Given the description of an element on the screen output the (x, y) to click on. 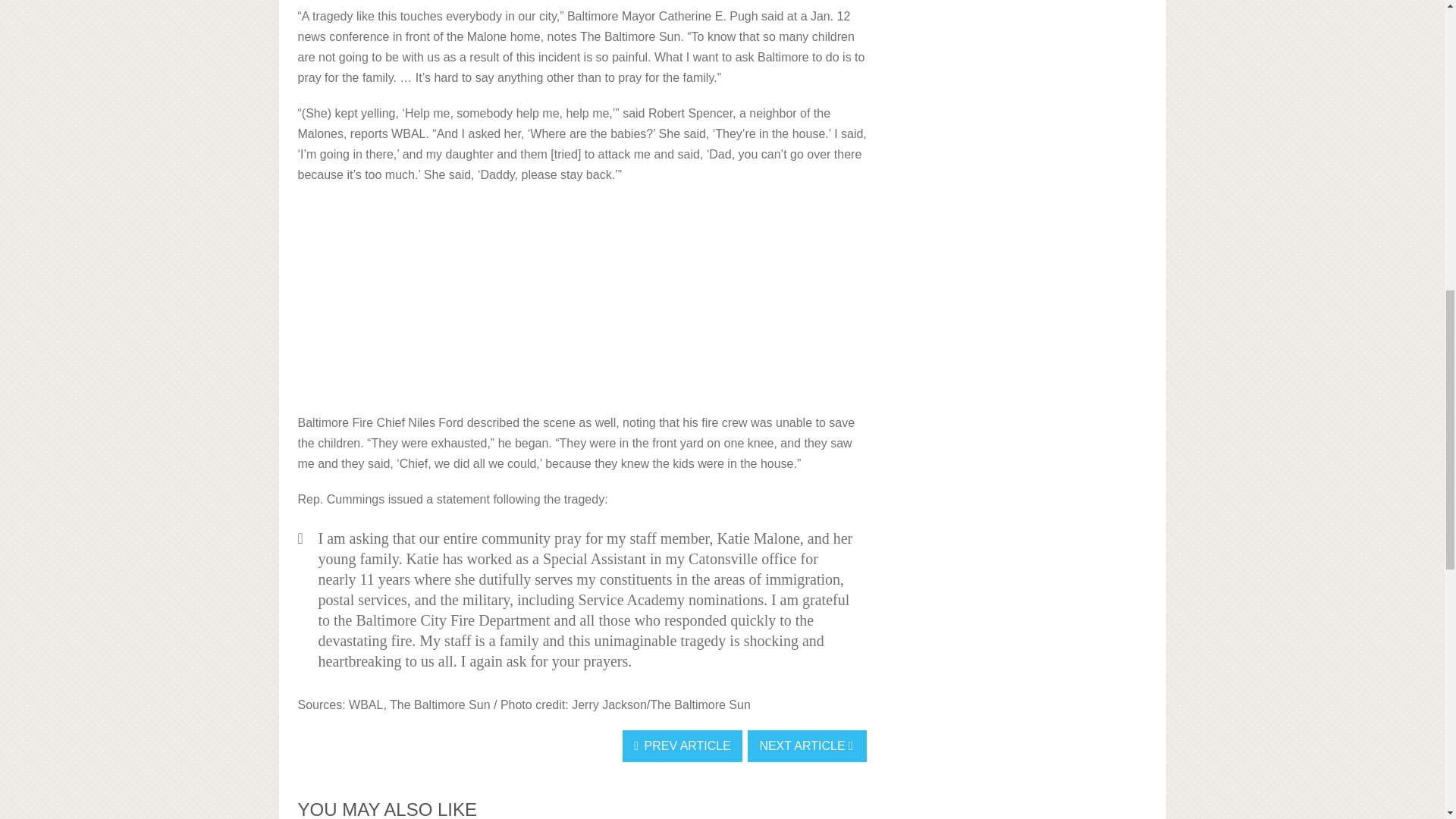
NEXT ARTICLE (807, 746)
PREV ARTICLE (682, 746)
Advertisement (581, 305)
